Given the description of an element on the screen output the (x, y) to click on. 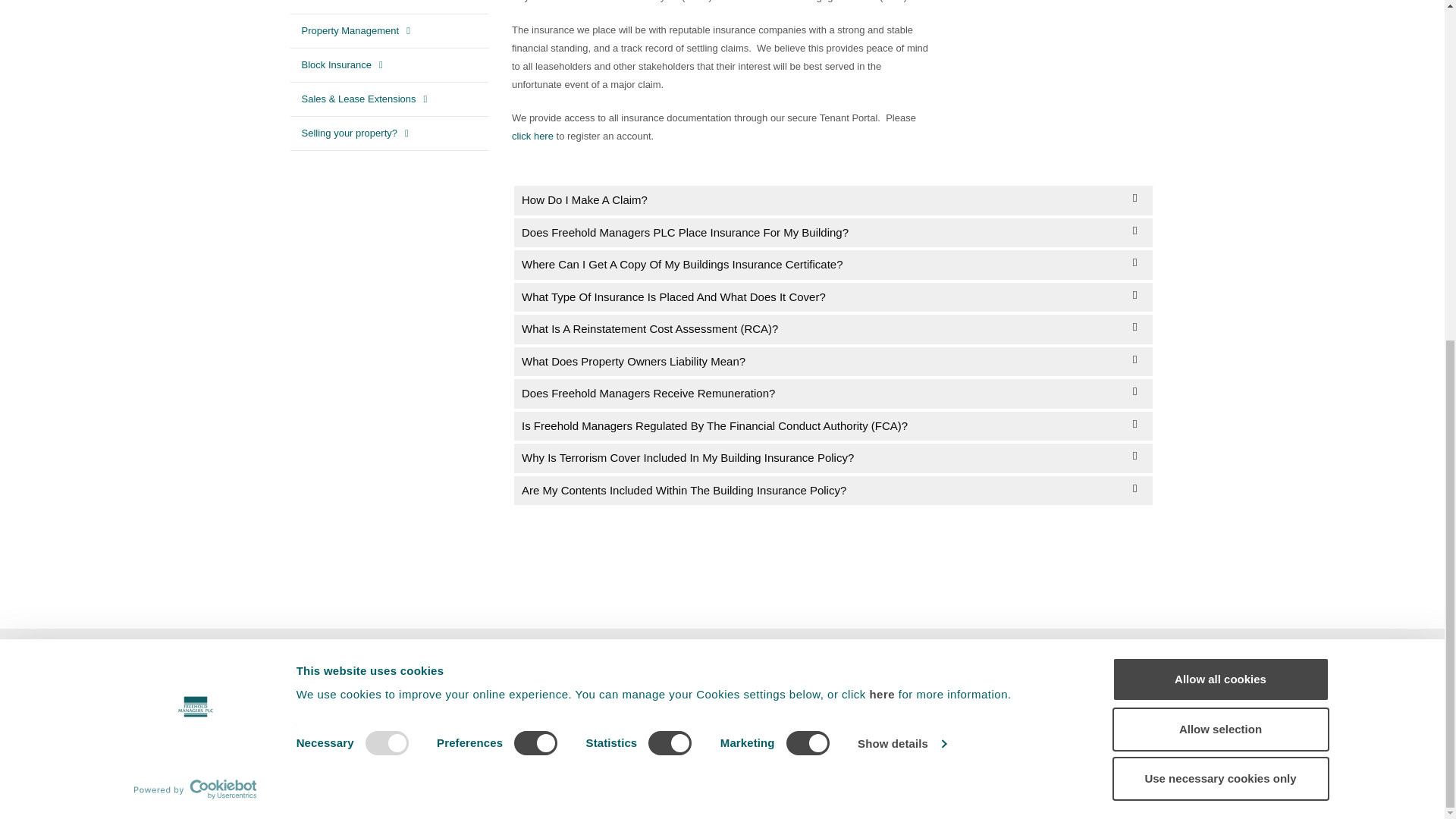
Show details (900, 167)
Use necessary cookies only (1219, 202)
Allow all cookies (1219, 103)
here (883, 117)
Allow selection (1219, 152)
